Given the description of an element on the screen output the (x, y) to click on. 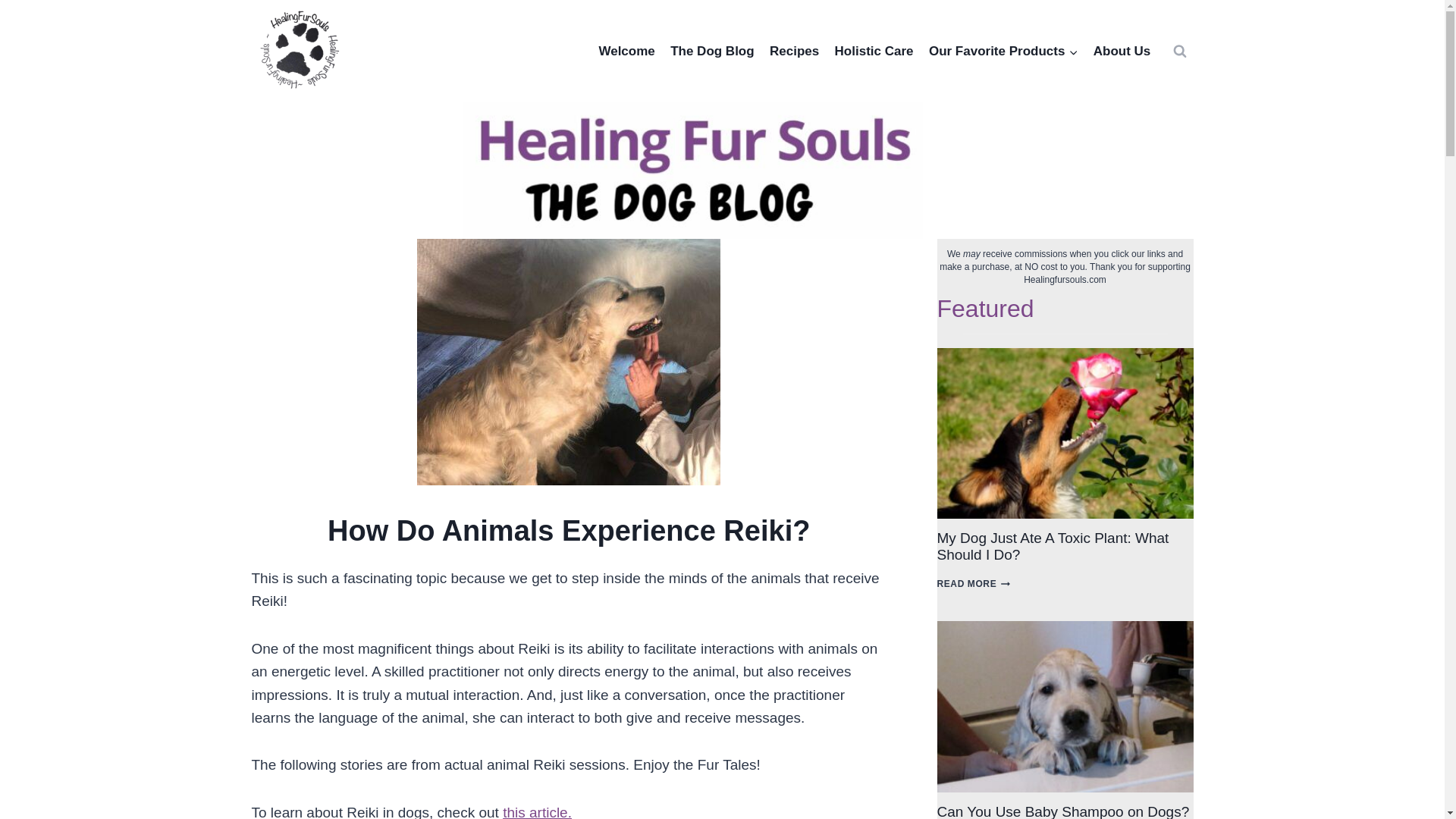
My Dog Just Ate A Toxic Plant: What Should I Do? (1065, 433)
How Do Animals Experience Reiki? (568, 362)
Recipes (794, 51)
Holistic Care (873, 51)
The Dog Blog (711, 51)
this article. (537, 811)
Our Favorite Products (1003, 51)
About Us (1122, 51)
Welcome (626, 51)
